Given the description of an element on the screen output the (x, y) to click on. 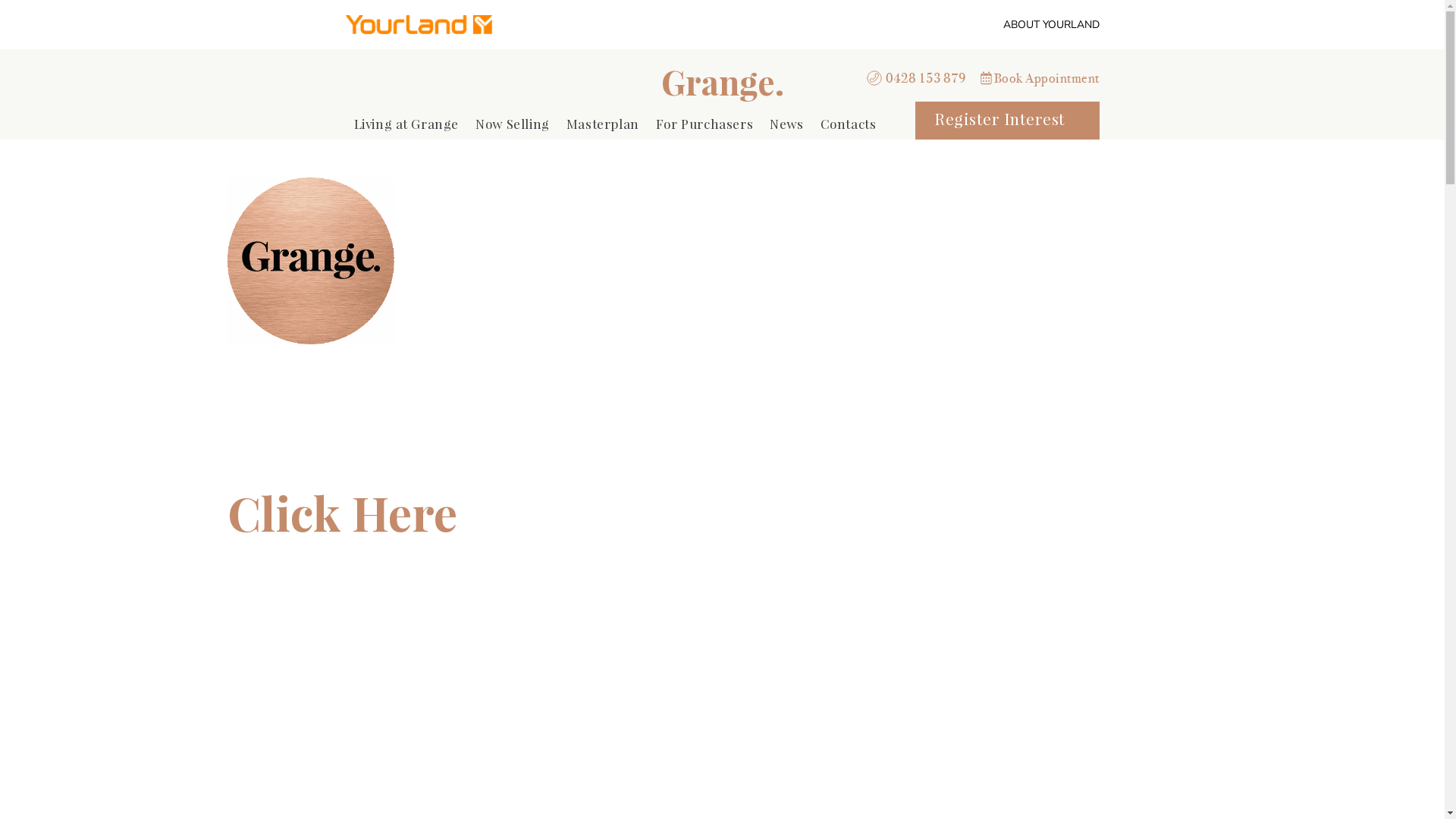
Masterplan Element type: text (602, 124)
Contacts Element type: text (848, 124)
Grange. Element type: text (722, 81)
Living at Grange Element type: text (406, 124)
Book Appointment Element type: text (1039, 77)
0428 153 879 Element type: text (917, 77)
Register Interest Element type: text (1007, 120)
ABOUT YOURLAND Element type: text (1050, 24)
For Purchasers Element type: text (704, 124)
News Element type: text (786, 124)
Now Selling Element type: text (512, 124)
